Given the description of an element on the screen output the (x, y) to click on. 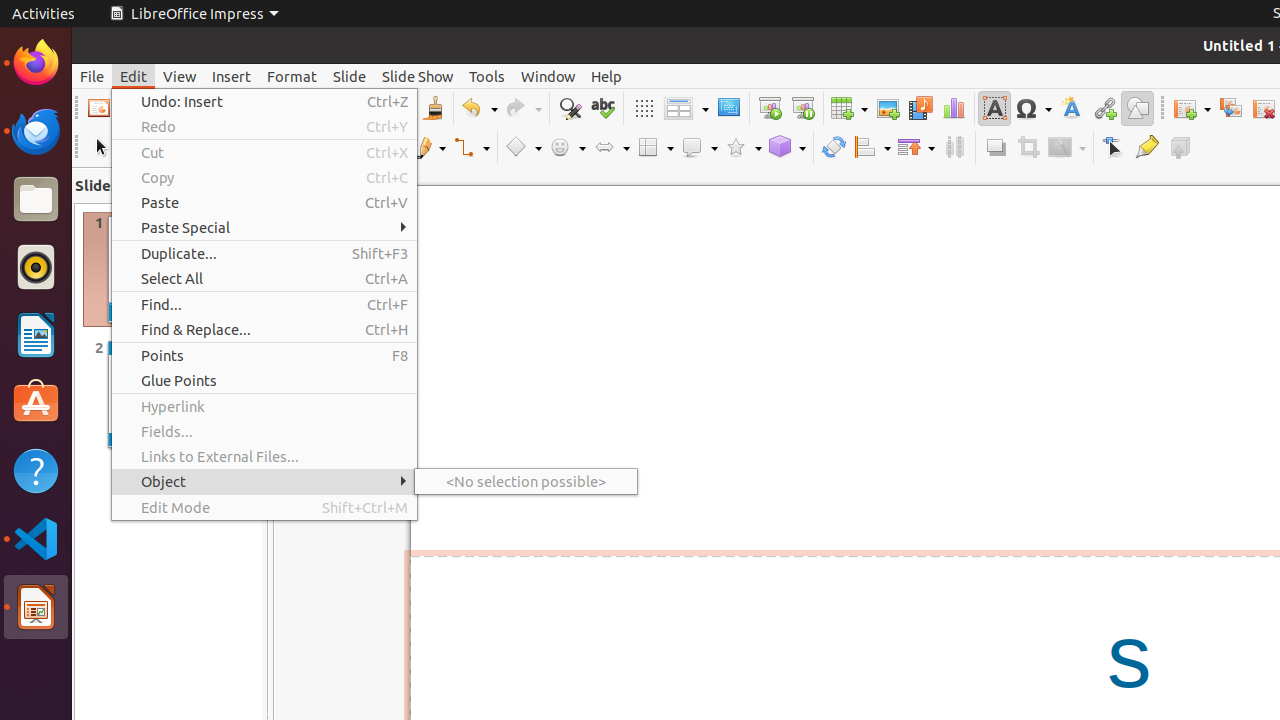
Ubuntu Software Element type: push-button (36, 402)
Redo Element type: menu-item (264, 126)
Copy Element type: menu-item (264, 177)
Find... Element type: menu-item (264, 304)
Cut Element type: menu-item (264, 152)
